Given the description of an element on the screen output the (x, y) to click on. 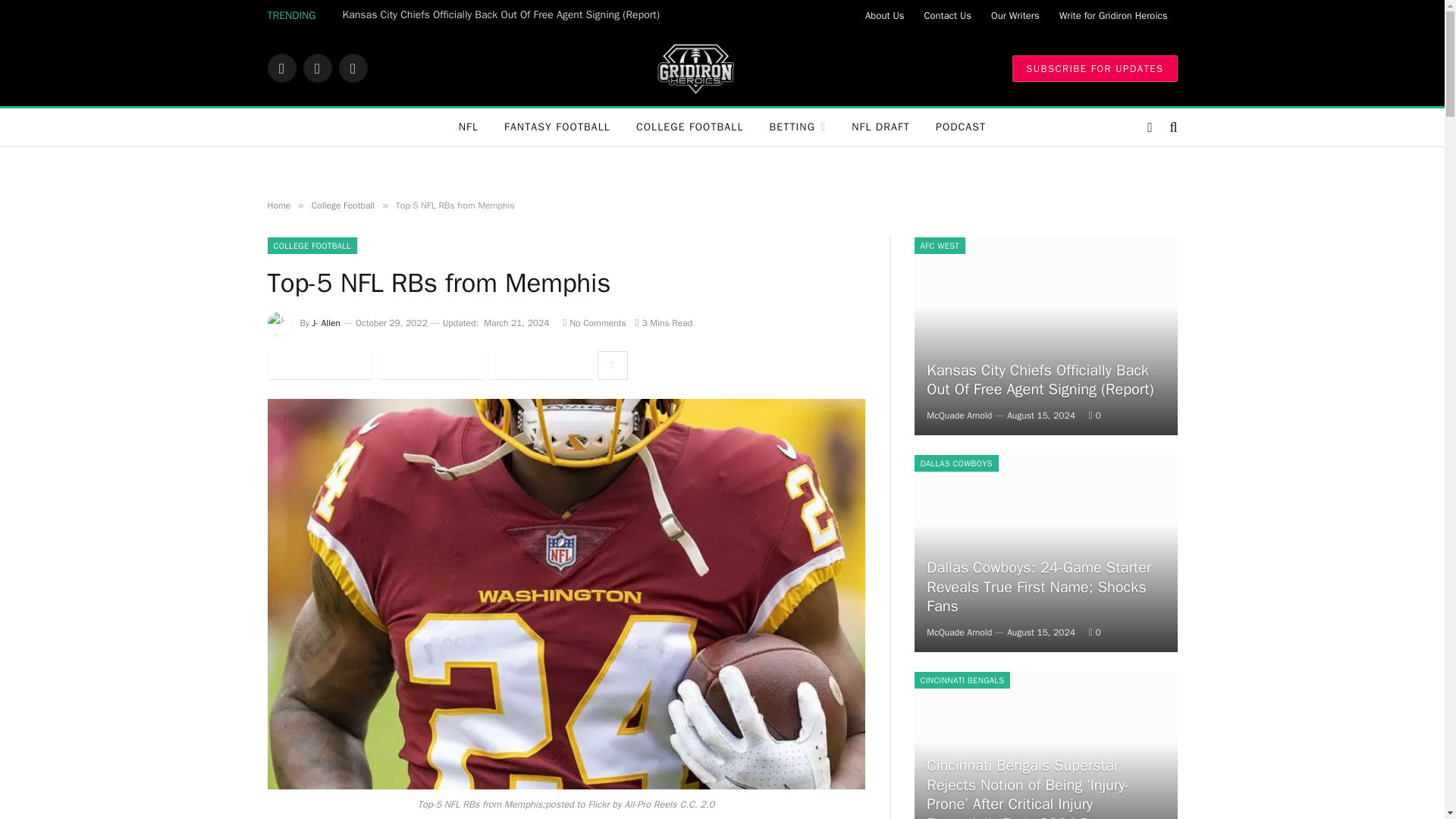
About Us (885, 15)
NFL (468, 127)
COLLEGE FOOTBALL (690, 127)
Instagram (351, 68)
Show More Social Sharing (611, 365)
Write for Gridiron Heroics (1113, 15)
Switch to Dark Design - easier on eyes. (1149, 127)
Our Writers (1015, 15)
Share on Facebook (319, 365)
